Given the description of an element on the screen output the (x, y) to click on. 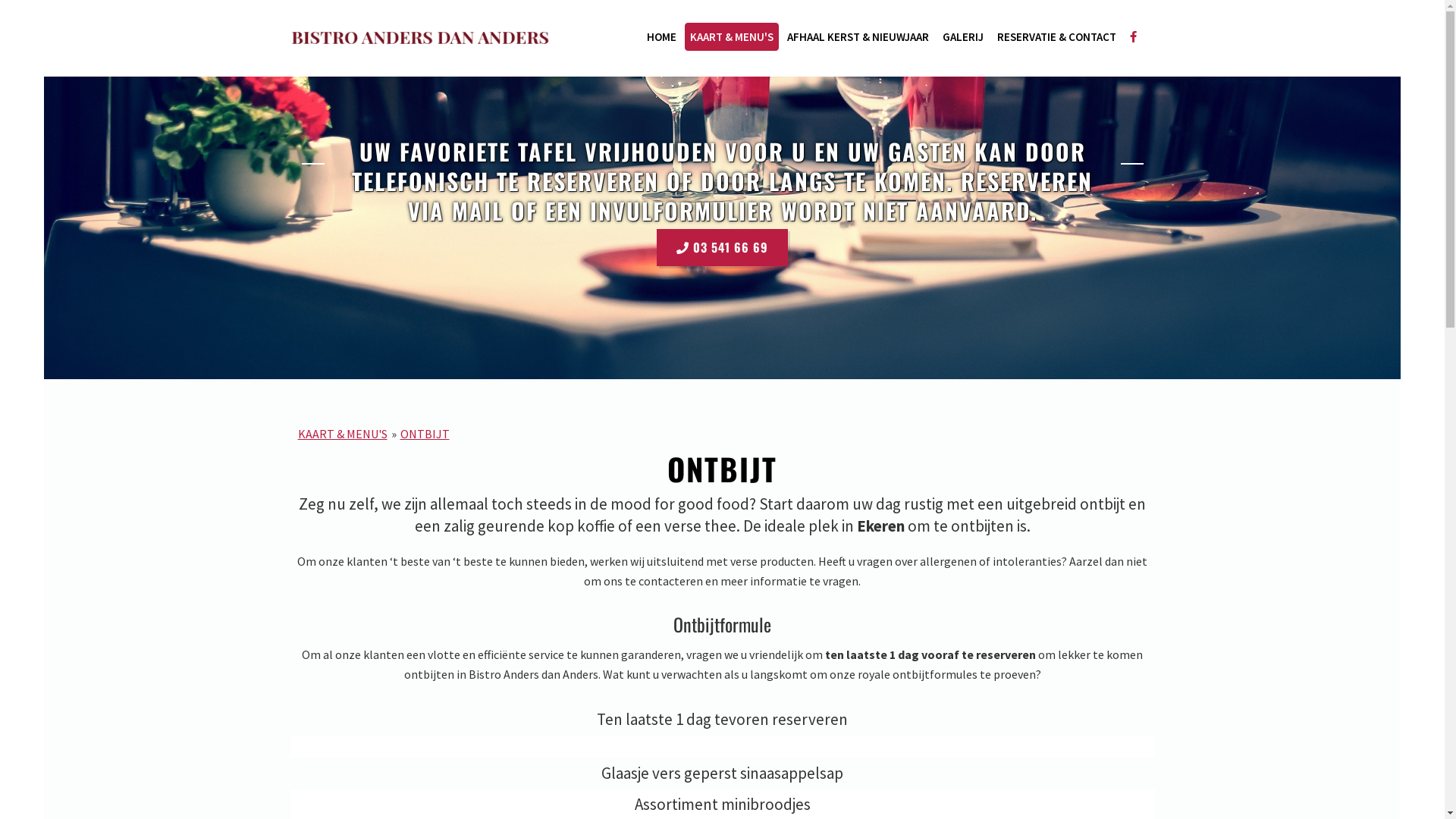
KAART & MENU'S Element type: text (341, 433)
 03 541 66 69 Element type: text (721, 247)
RESERVATIE & CONTACT Element type: text (1056, 36)
GALERIJ Element type: text (962, 36)
HOME Element type: text (661, 36)
KAART & MENU'S Element type: text (731, 36)
AFHAAL KERST & NIEUWJAAR Element type: text (857, 36)
ONTBIJT Element type: text (424, 433)
